Given the description of an element on the screen output the (x, y) to click on. 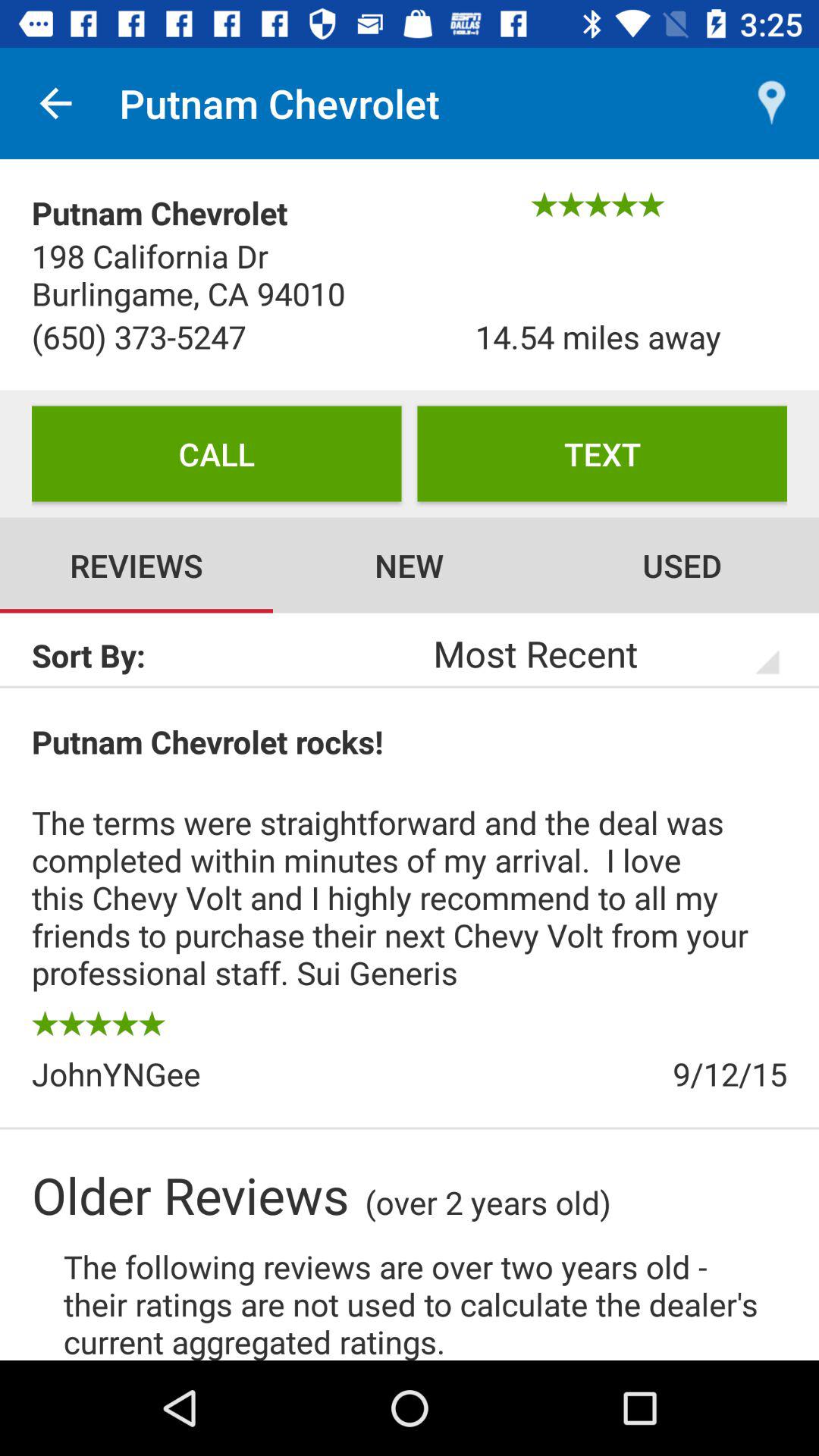
click text icon (602, 453)
